Given the description of an element on the screen output the (x, y) to click on. 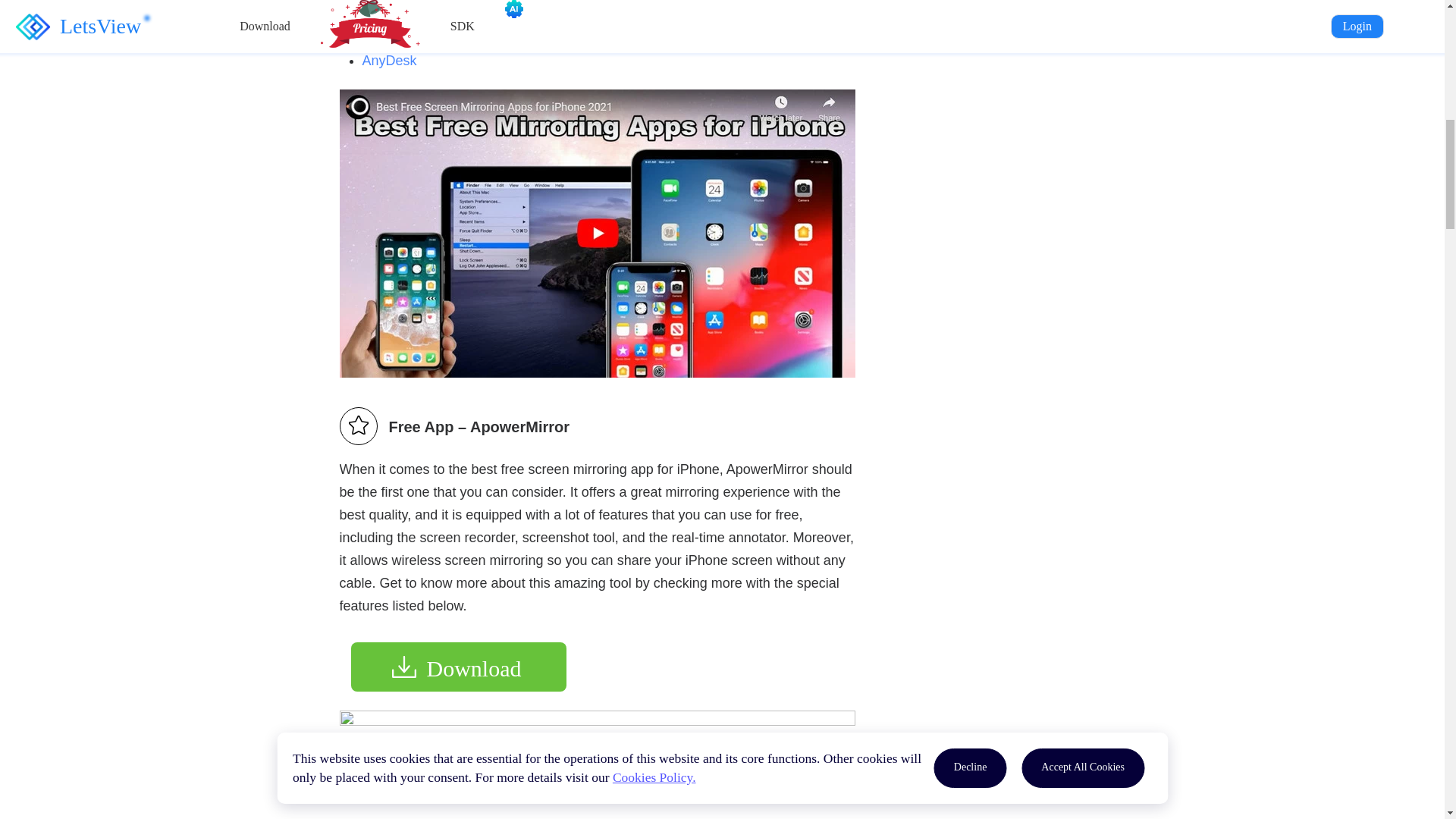
Chrome Remote Desktop (439, 29)
AnyDesk (389, 60)
TeamViewer (400, 3)
Download (458, 666)
